Given the description of an element on the screen output the (x, y) to click on. 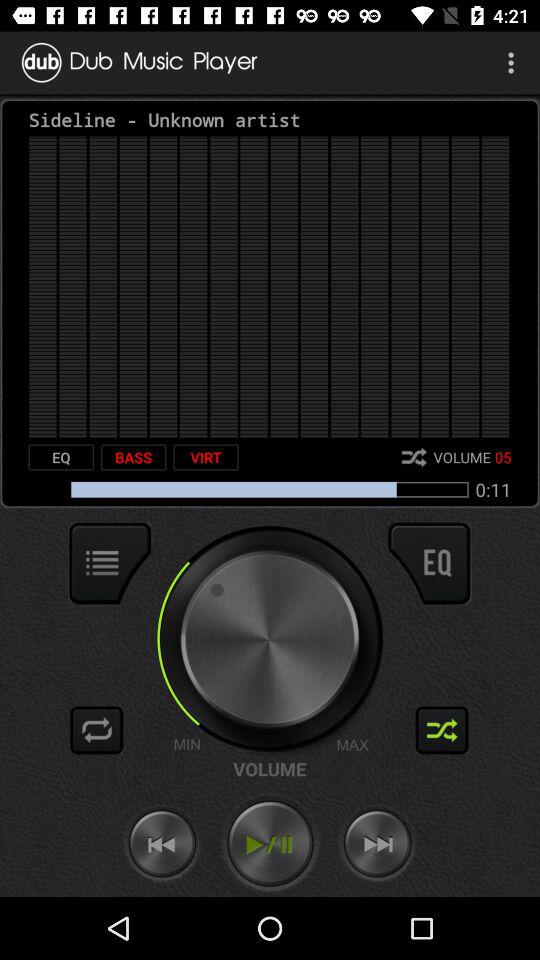
turn off the  bass  item (133, 457)
